Given the description of an element on the screen output the (x, y) to click on. 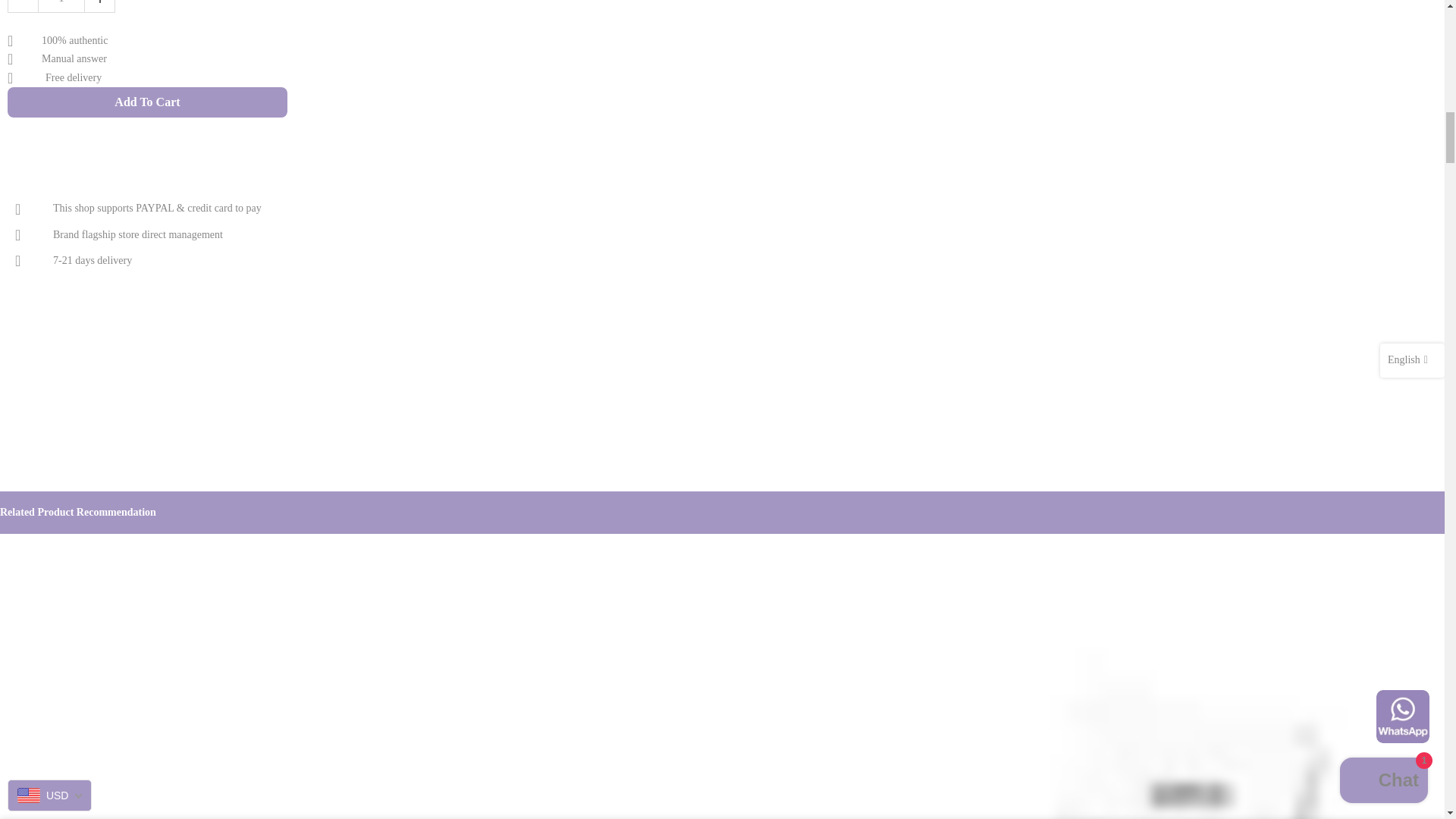
Add To Cart (146, 101)
1 (61, 6)
